Given the description of an element on the screen output the (x, y) to click on. 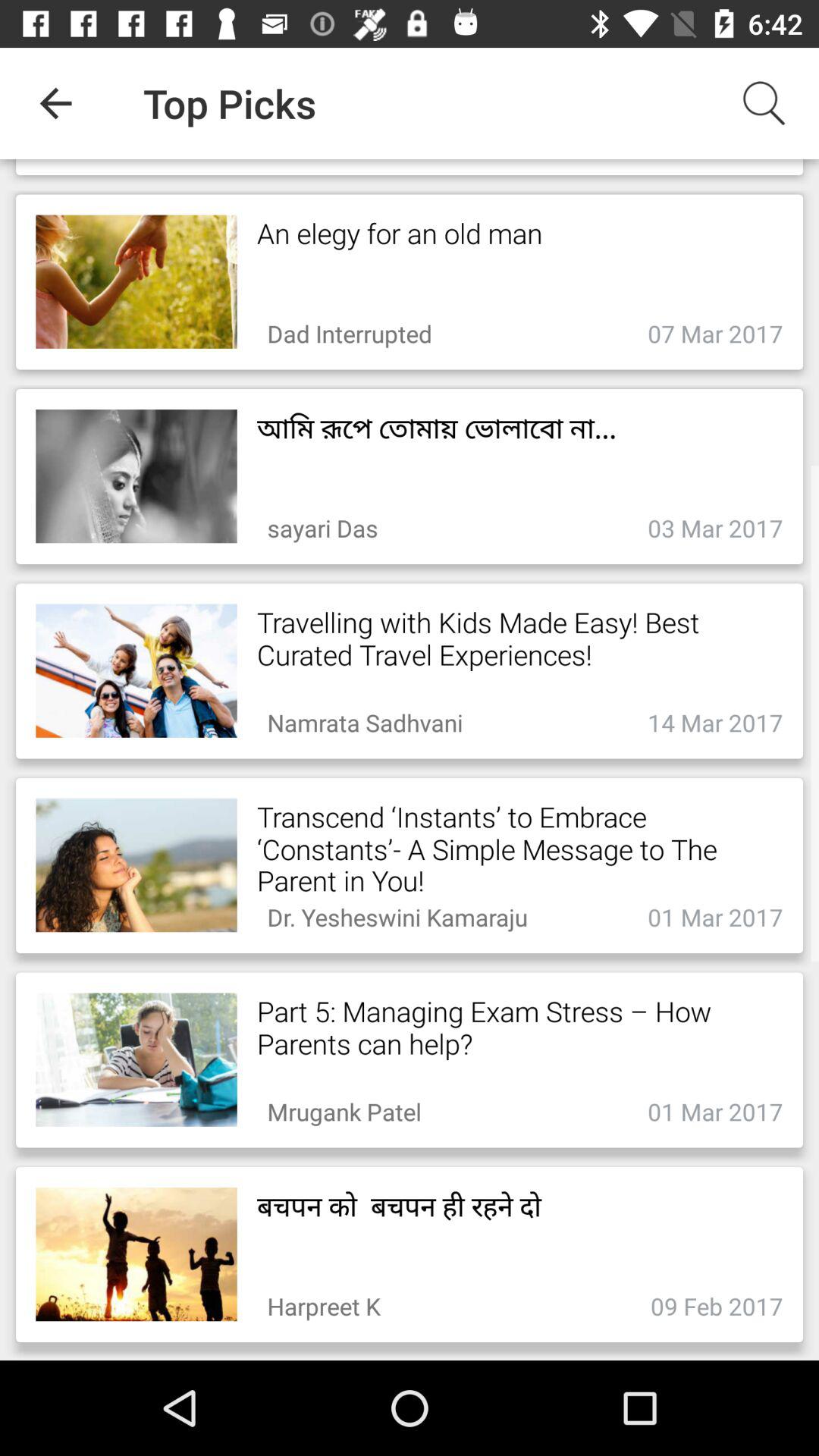
select harpreet k icon (323, 1301)
